Given the description of an element on the screen output the (x, y) to click on. 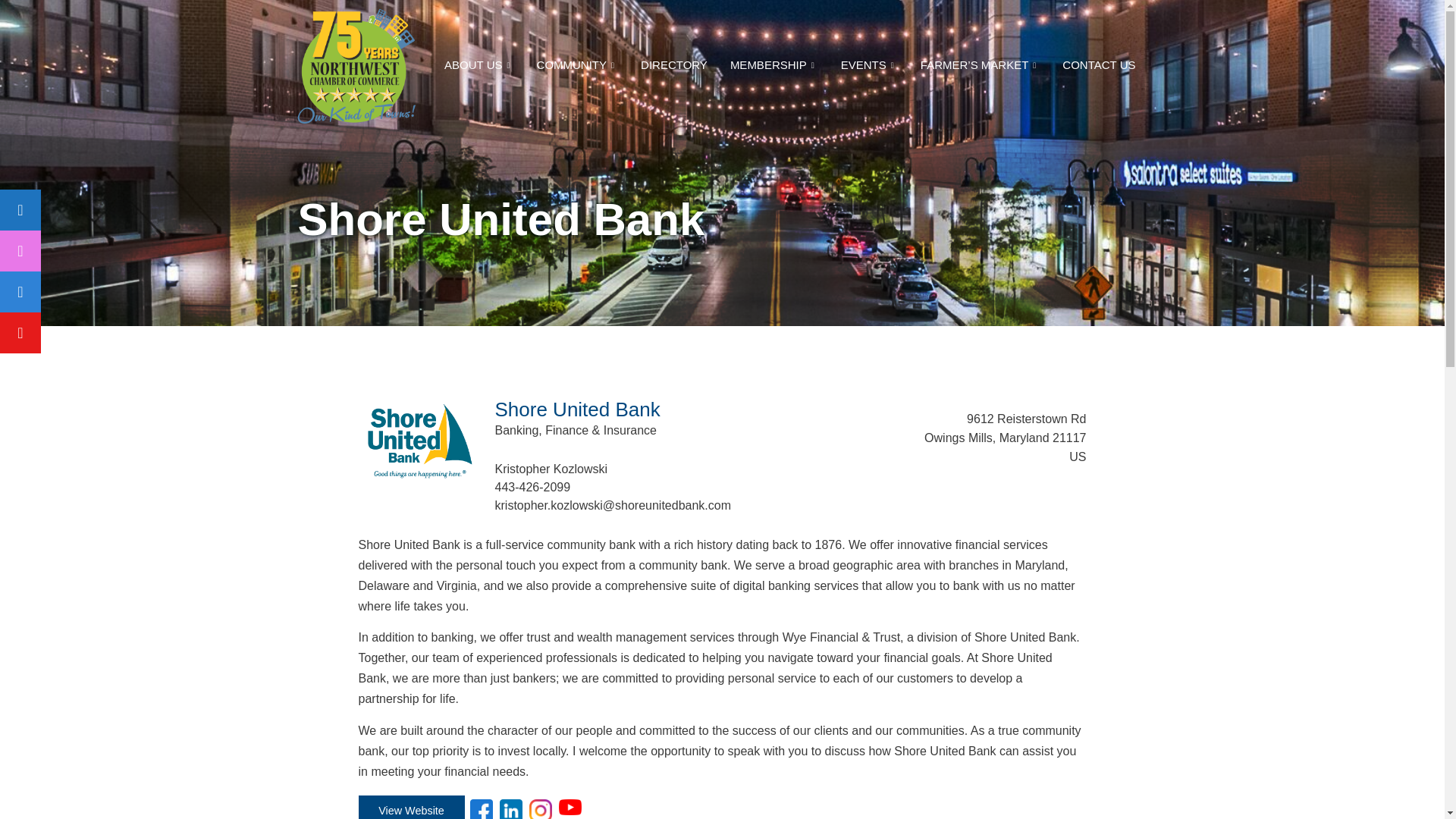
MEMBERSHIP (774, 65)
DIRECTORY (673, 65)
COMMUNITY (577, 65)
CONTACT US (1099, 65)
ABOUT US (478, 65)
EVENTS (868, 65)
